Given the description of an element on the screen output the (x, y) to click on. 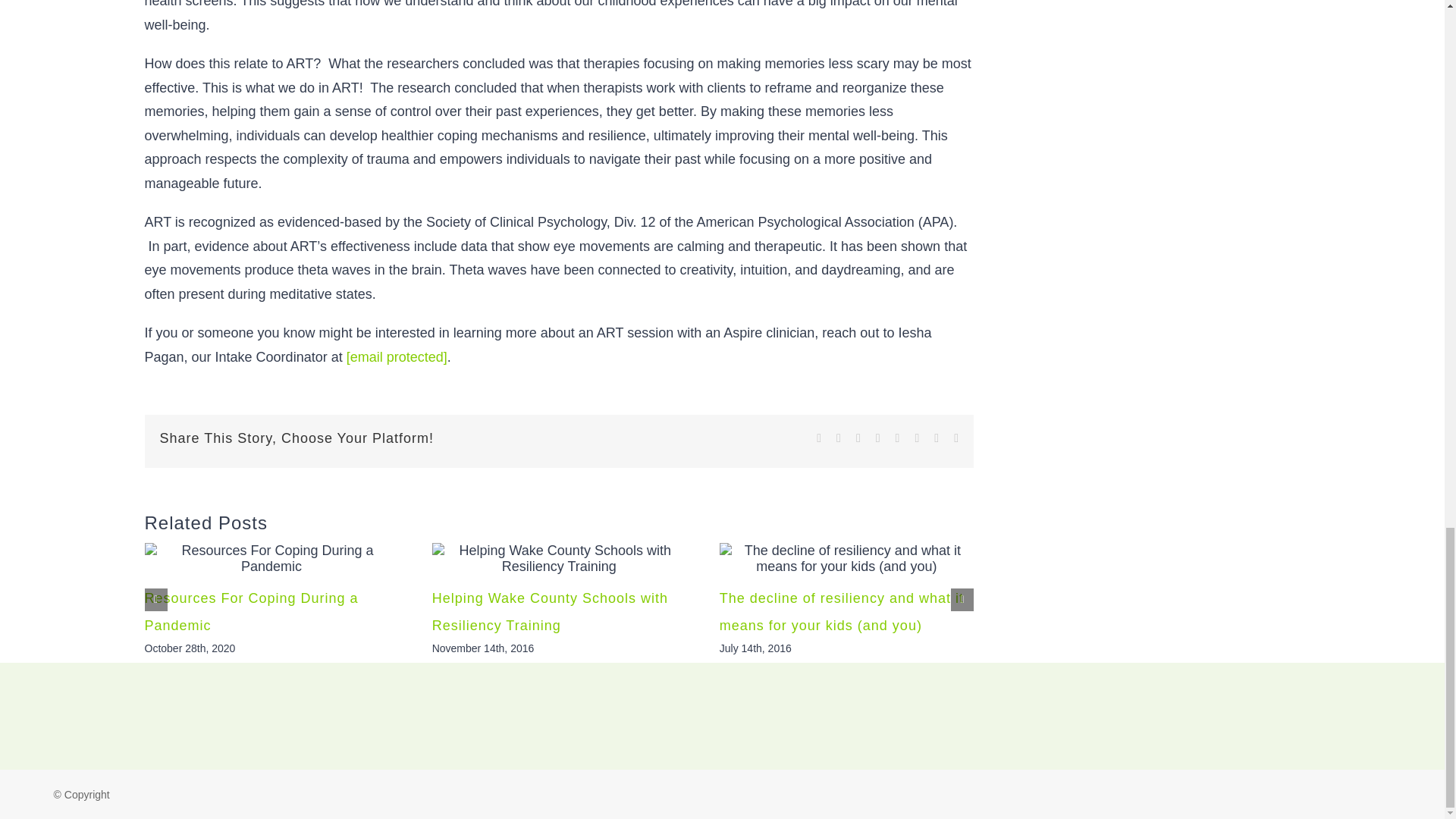
Helping Wake County Schools with Resiliency Training (550, 611)
Resources For Coping During a Pandemic (251, 611)
